Given the description of an element on the screen output the (x, y) to click on. 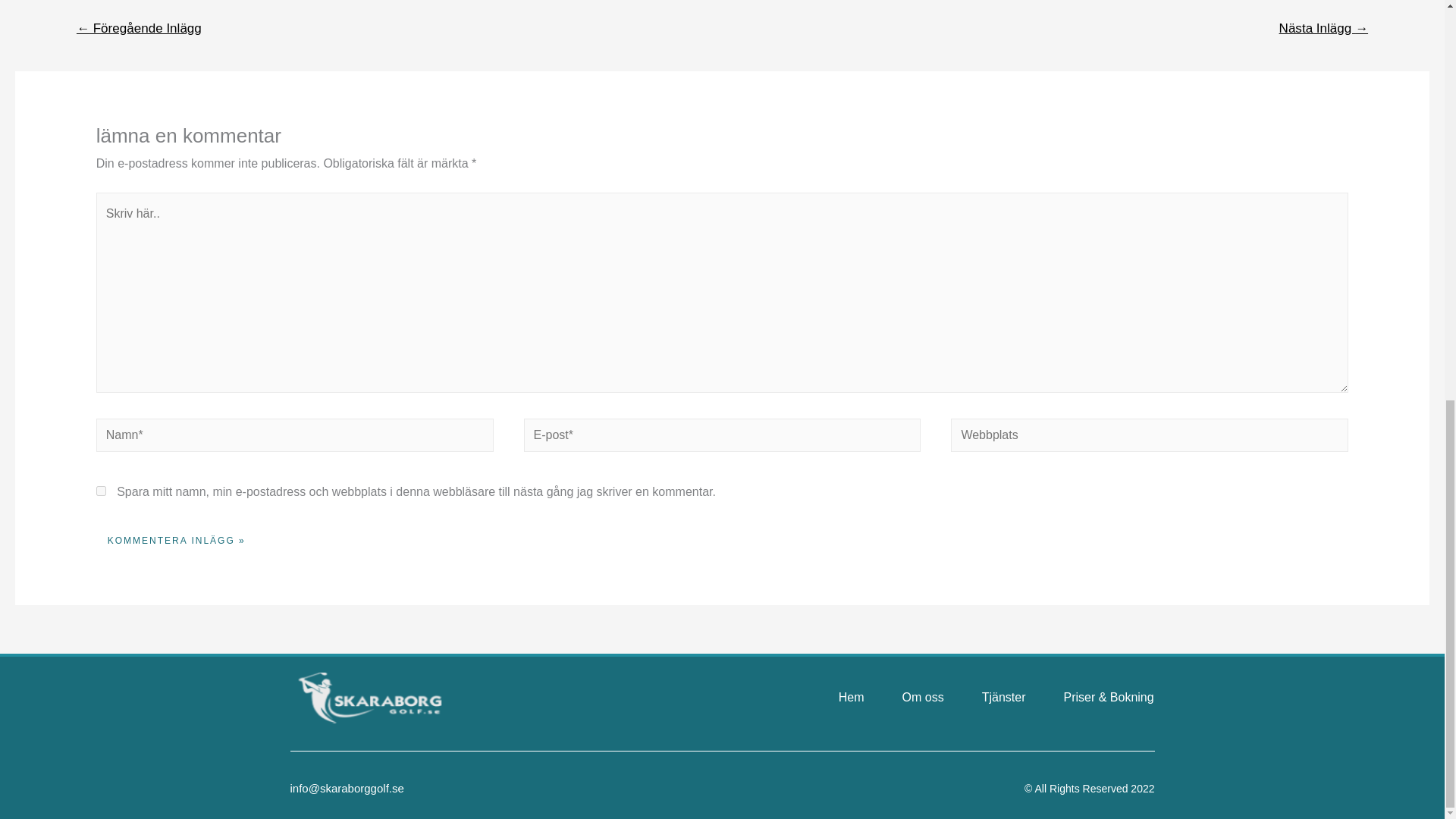
Hem (851, 697)
yes (101, 491)
Om oss (922, 697)
